Given the description of an element on the screen output the (x, y) to click on. 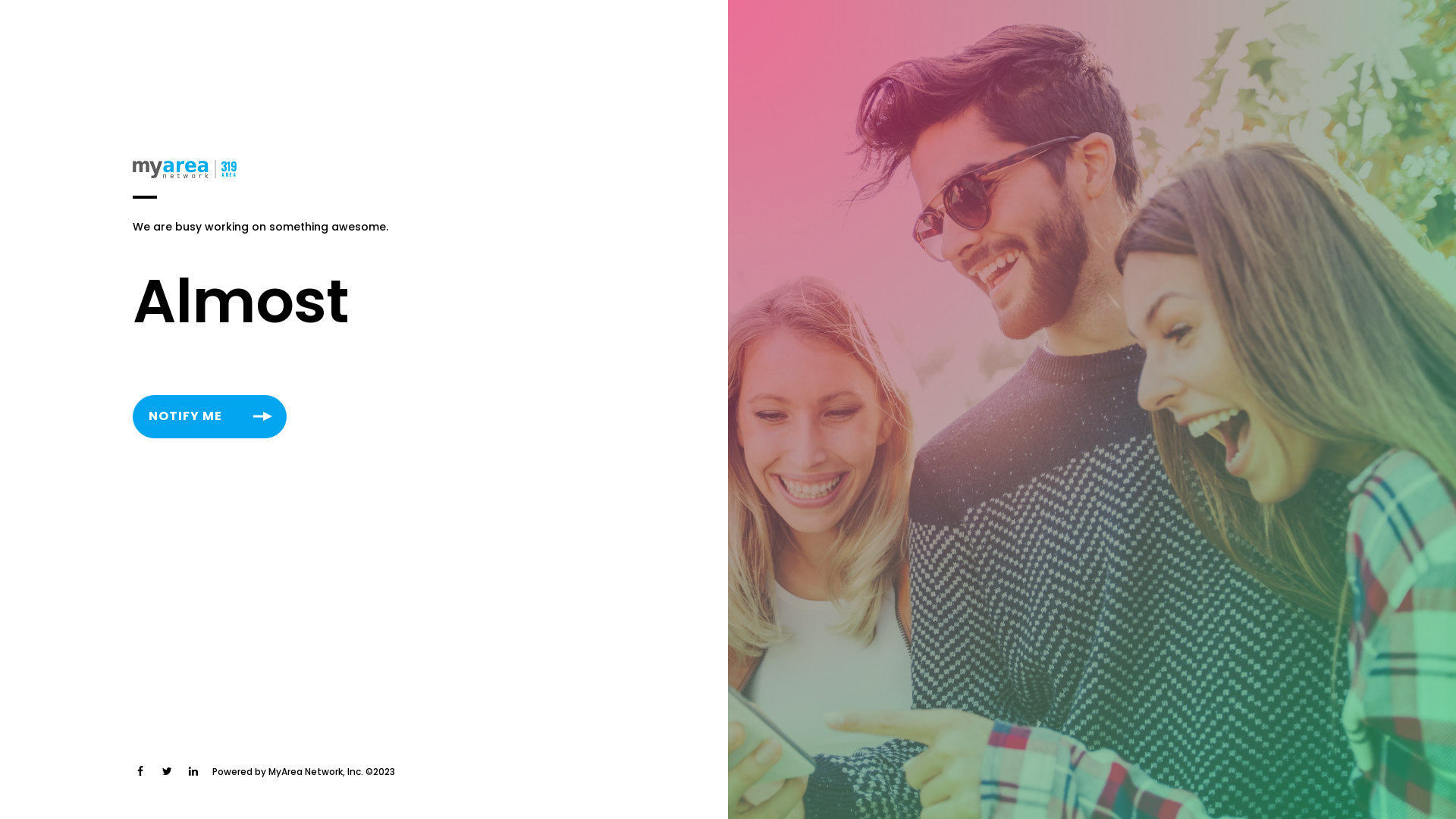
NOTIFY ME Element type: text (209, 416)
